Given the description of an element on the screen output the (x, y) to click on. 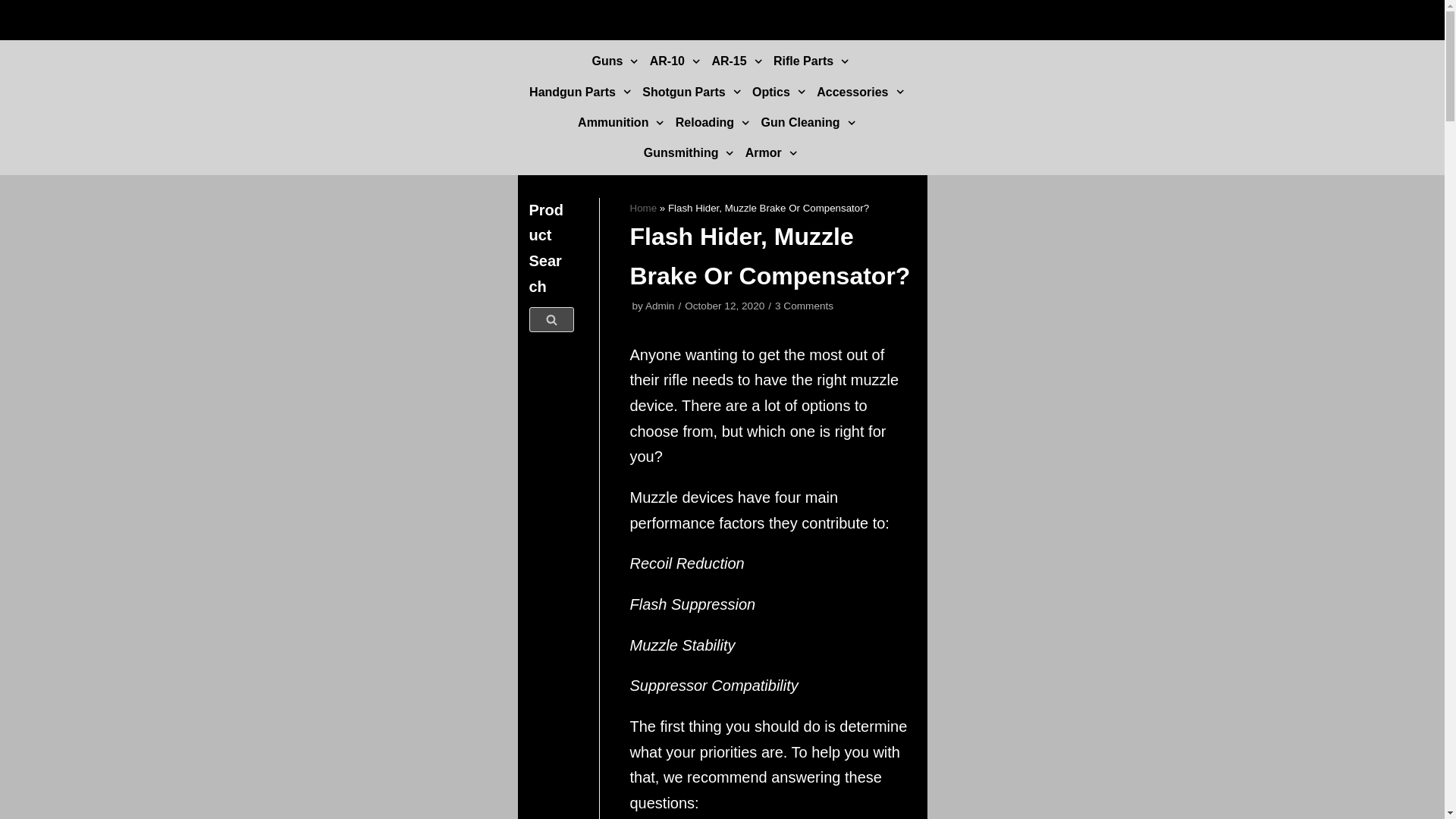
Guns (616, 61)
Posts by Admin (660, 306)
Skip to content (15, 31)
AR-10 (676, 61)
AR-15 (738, 61)
